Given the description of an element on the screen output the (x, y) to click on. 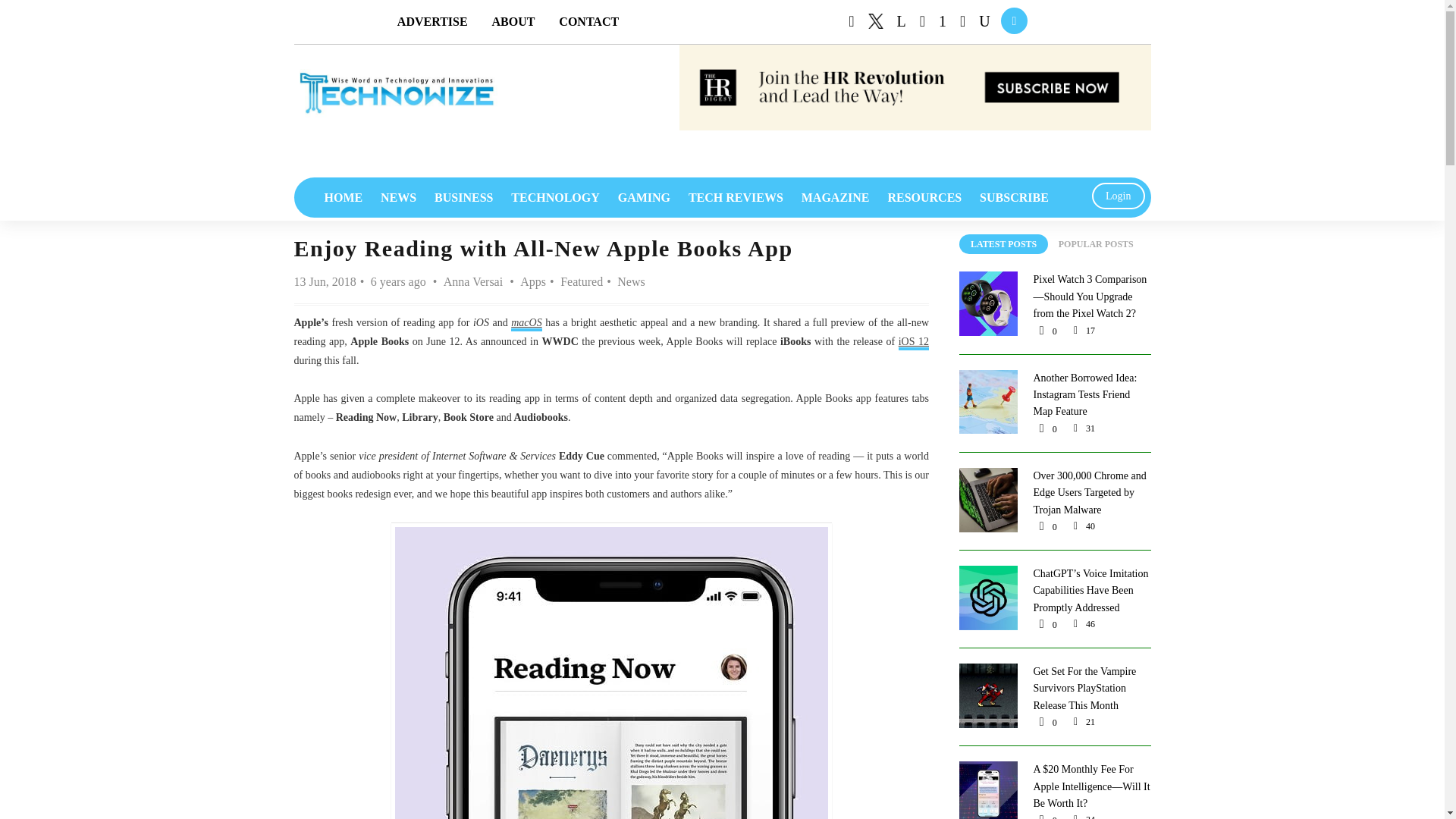
HOME (344, 197)
ADVERTISE (432, 21)
Technowize (396, 92)
ABOUT (513, 21)
CONTACT (588, 21)
